Given the description of an element on the screen output the (x, y) to click on. 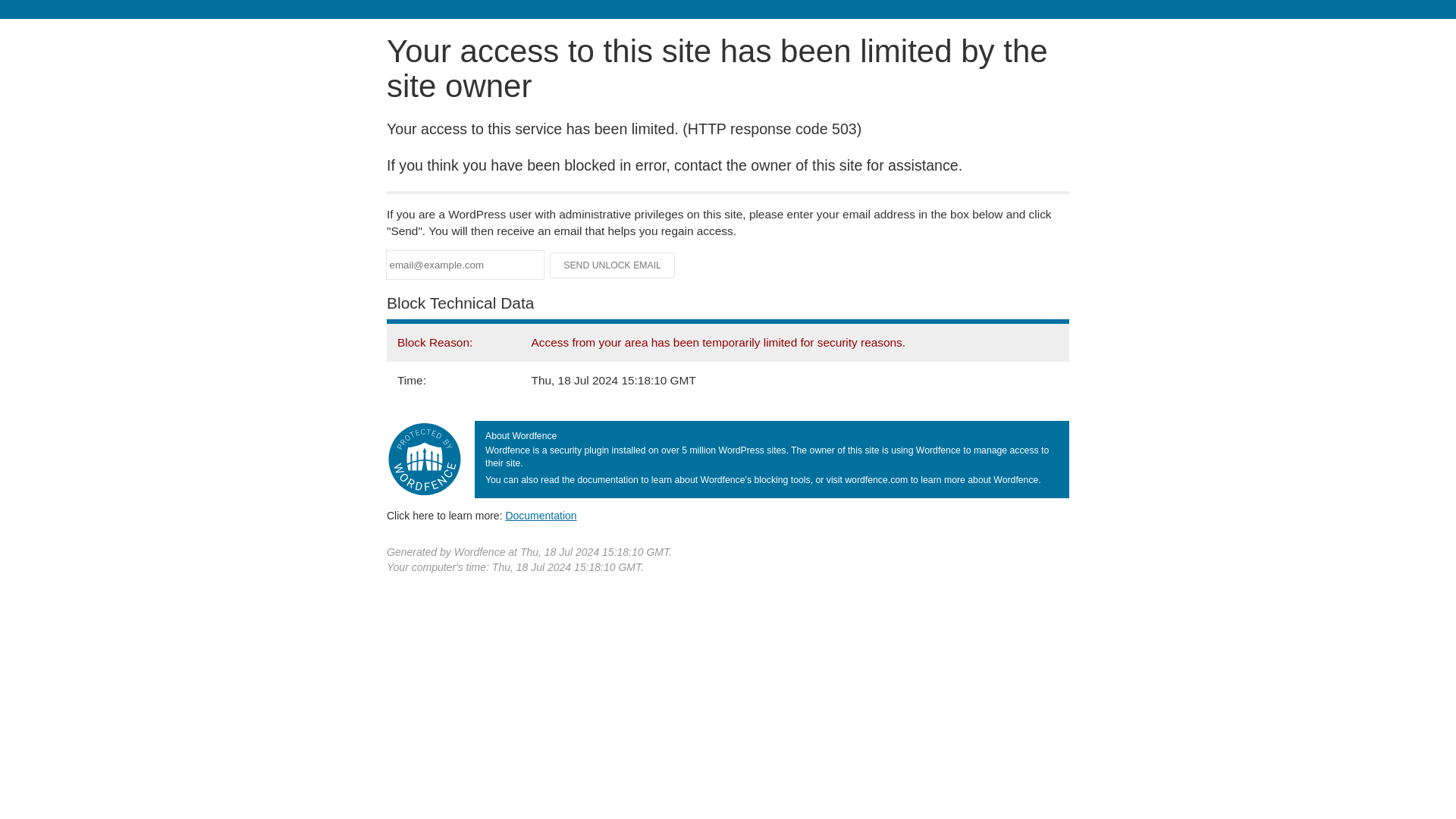
Send Unlock Email (612, 265)
Documentation (540, 515)
Send Unlock Email (612, 265)
